Given the description of an element on the screen output the (x, y) to click on. 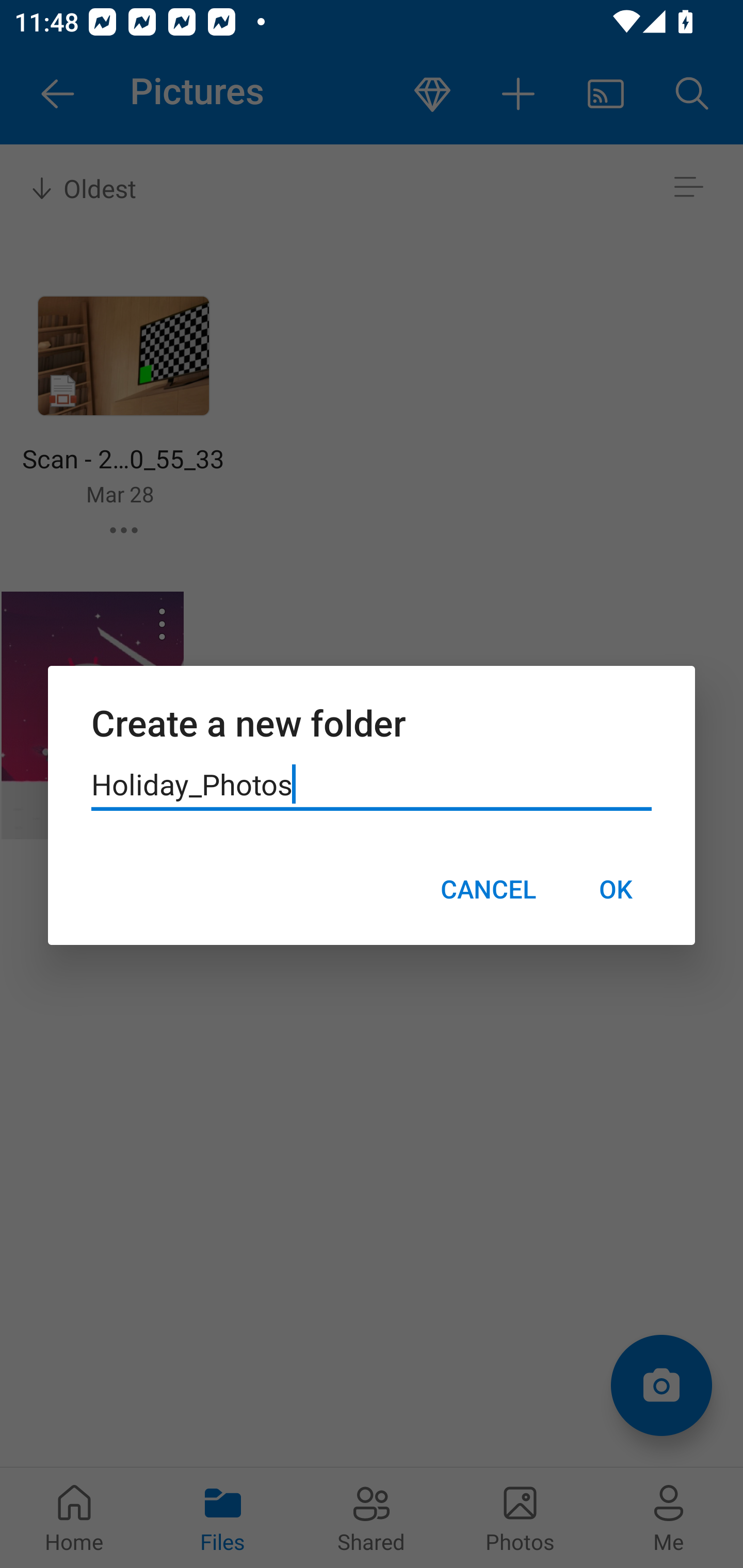
Holiday_Photos (371, 784)
CANCEL (488, 888)
OK (615, 888)
